Given the description of an element on the screen output the (x, y) to click on. 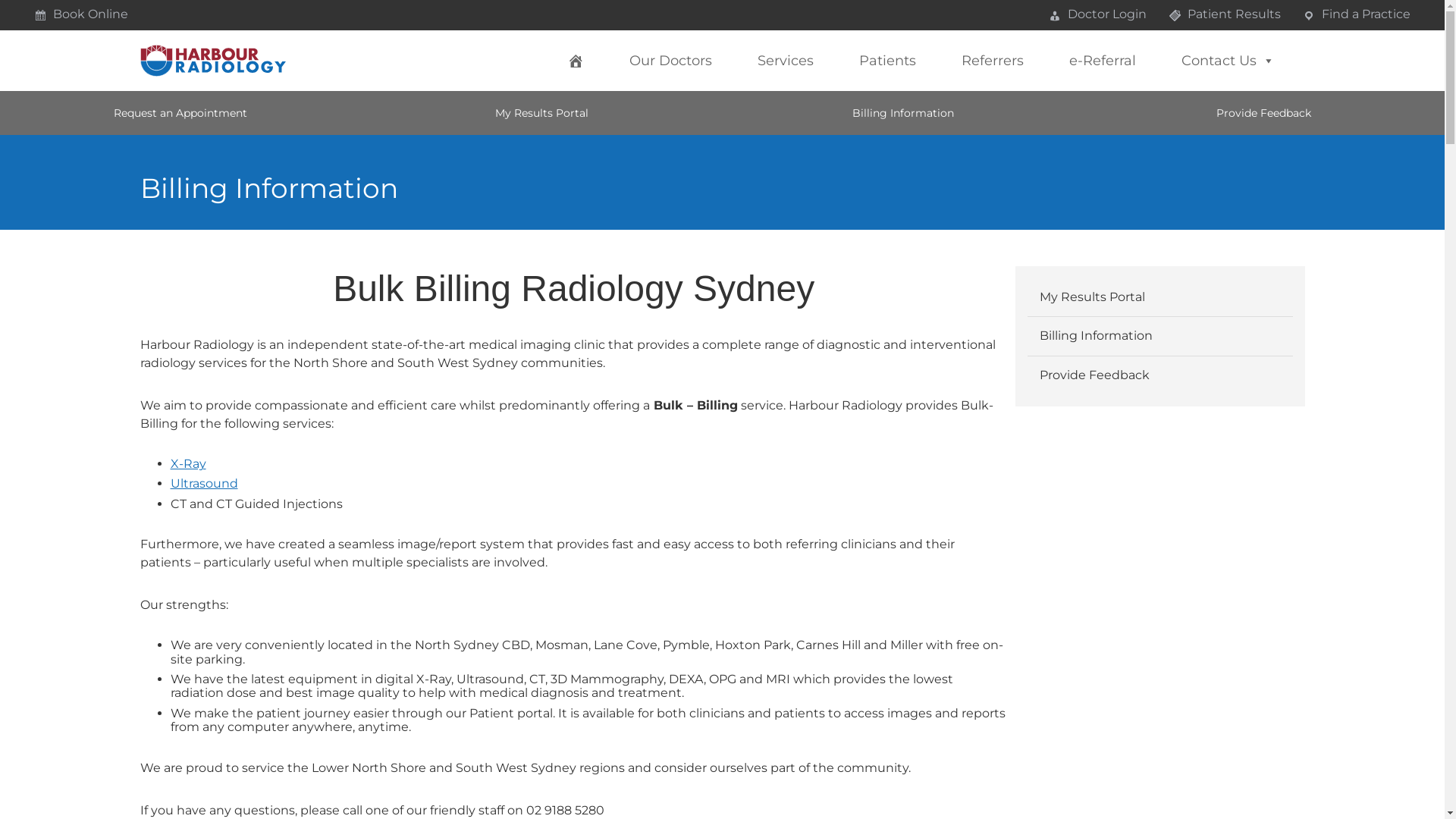
Provide Feedback Element type: text (1264, 112)
Doctor Login Element type: text (1097, 14)
Referrers Element type: text (992, 60)
Request an Appointment Element type: text (180, 112)
Services Element type: text (784, 60)
Contact Us Element type: text (1227, 60)
Find a Practice Element type: text (1356, 14)
Provide Feedback Element type: text (1159, 375)
My Results Portal Element type: text (1159, 297)
e-Referral Element type: text (1102, 60)
Our Doctors Element type: text (670, 60)
Billing Information Element type: text (1159, 335)
Patients Element type: text (886, 60)
Ultrasound Element type: text (203, 483)
Patient Results Element type: text (1224, 14)
X-Ray Element type: text (187, 463)
Billing Information Element type: text (902, 112)
My Results Portal Element type: text (541, 112)
Book Online Element type: text (81, 14)
